Given the description of an element on the screen output the (x, y) to click on. 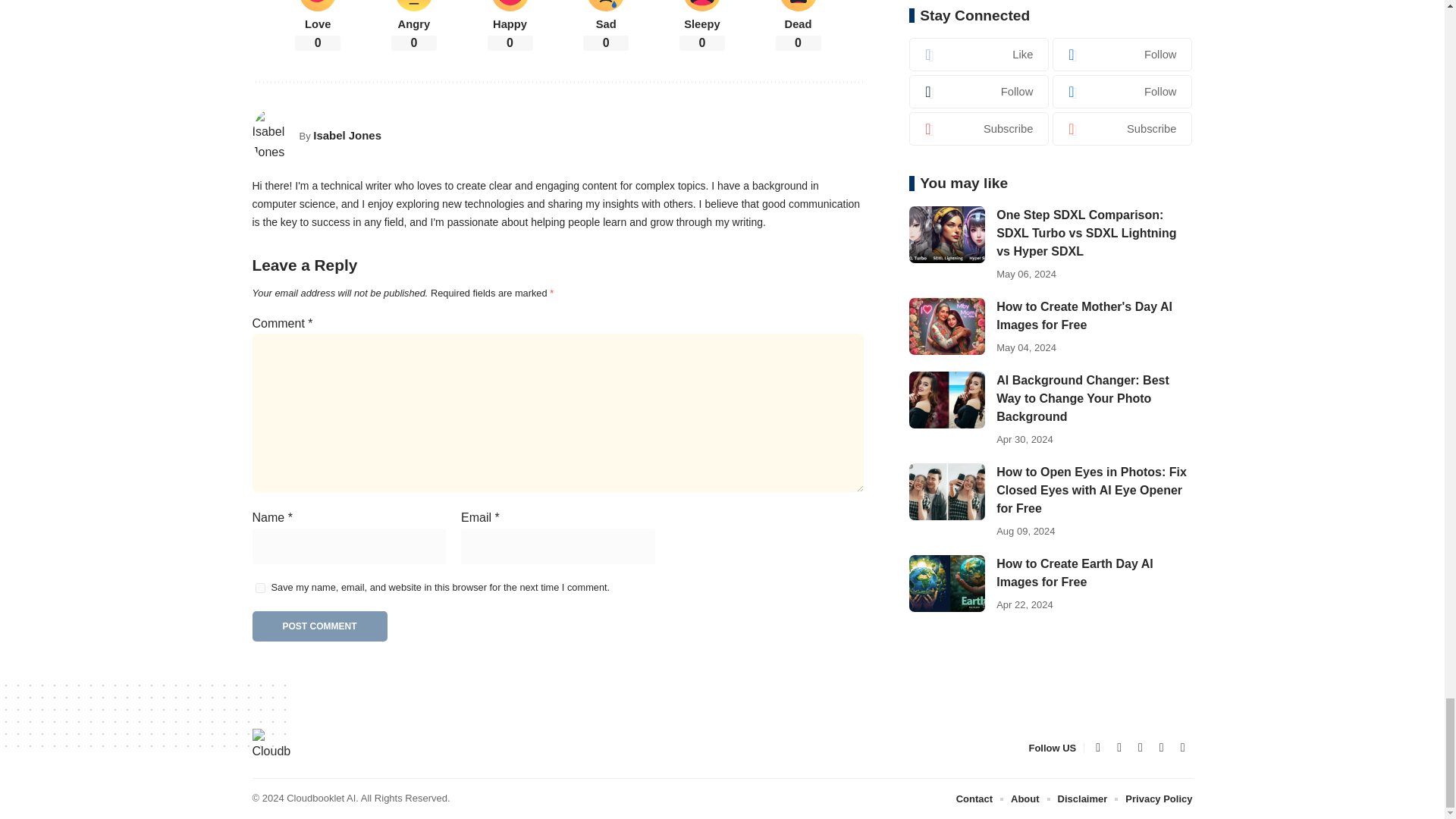
Cloudbooklet AI (270, 747)
Post Comment (319, 625)
yes (259, 587)
